Given the description of an element on the screen output the (x, y) to click on. 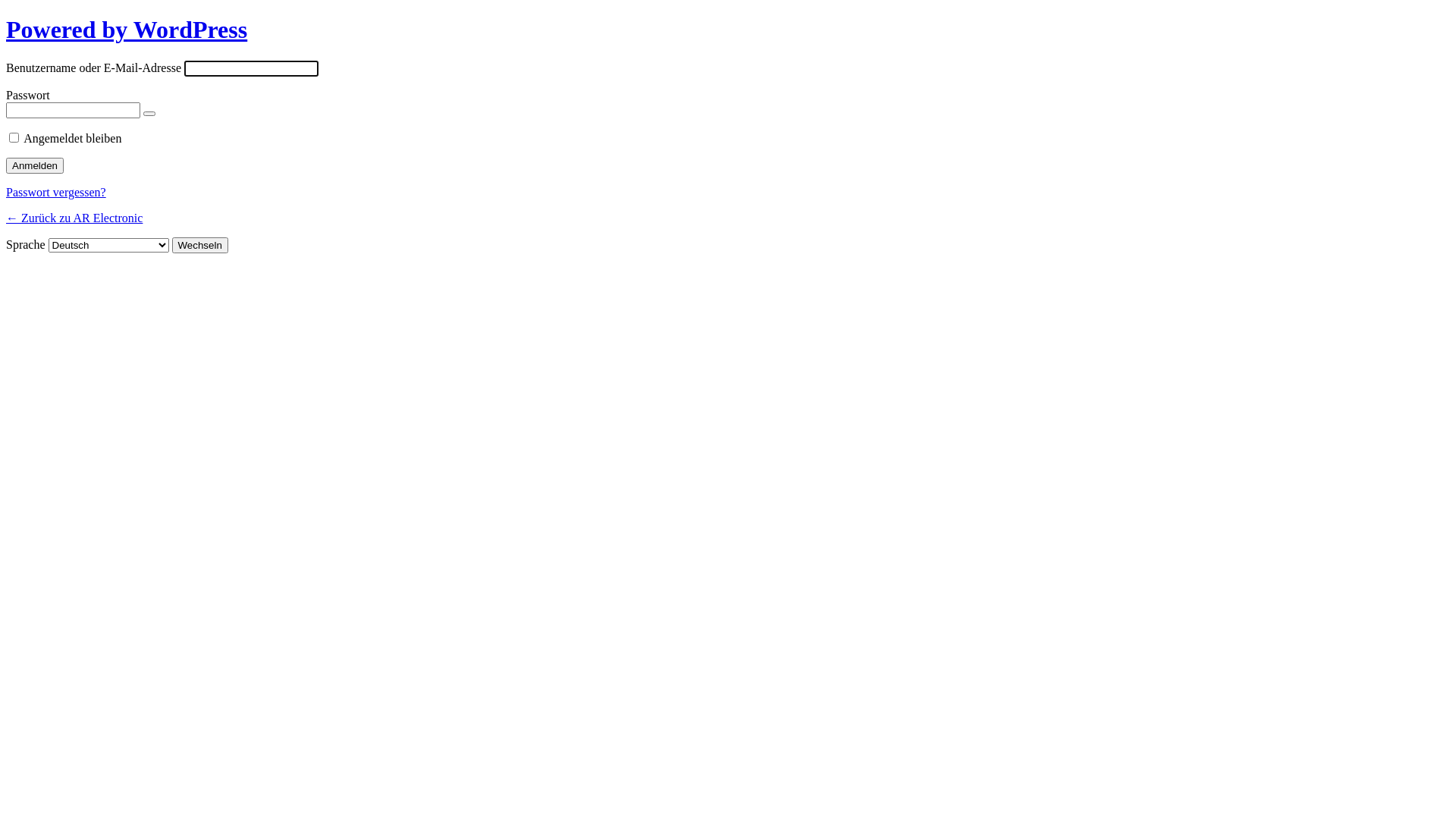
Passwort vergessen? Element type: text (56, 191)
Wechseln Element type: text (200, 245)
Anmelden Element type: text (34, 165)
Powered by WordPress Element type: text (126, 29)
